Given the description of an element on the screen output the (x, y) to click on. 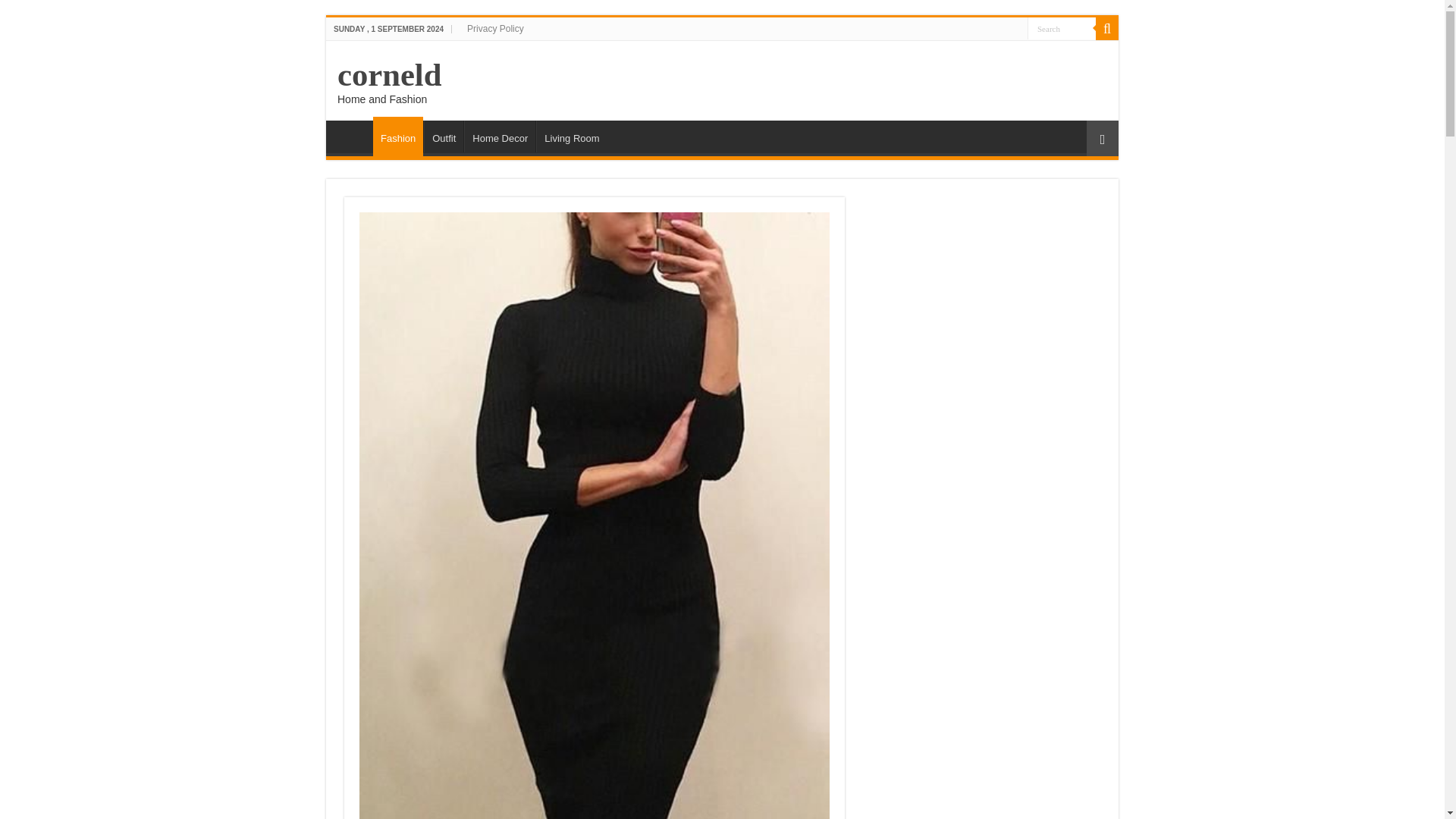
Privacy Policy (495, 28)
Random Article (1102, 138)
Search (1061, 28)
corneld (389, 74)
Outfit (443, 136)
Search (1061, 28)
Home Decor (499, 136)
Search (1107, 28)
Fashion (397, 136)
Search (1061, 28)
